Given the description of an element on the screen output the (x, y) to click on. 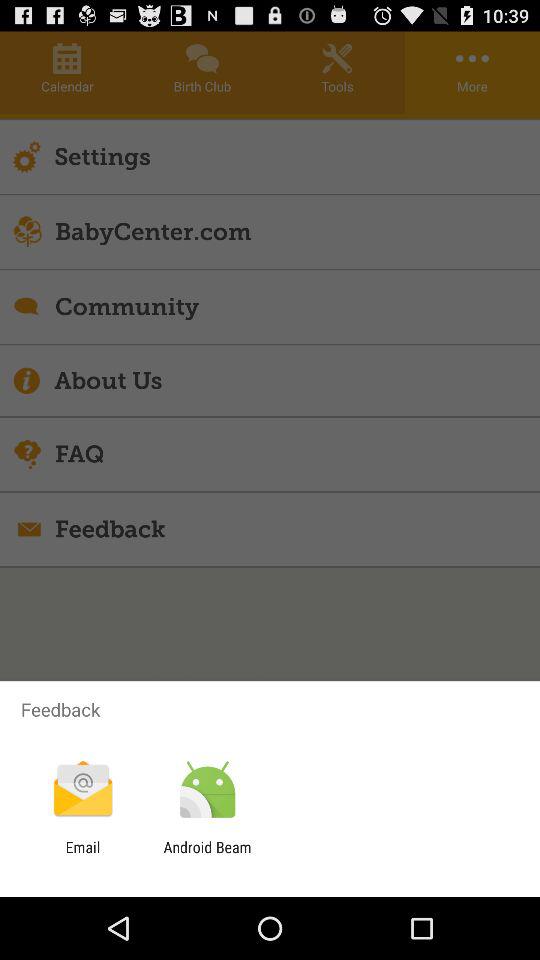
choose app next to the email icon (207, 856)
